Given the description of an element on the screen output the (x, y) to click on. 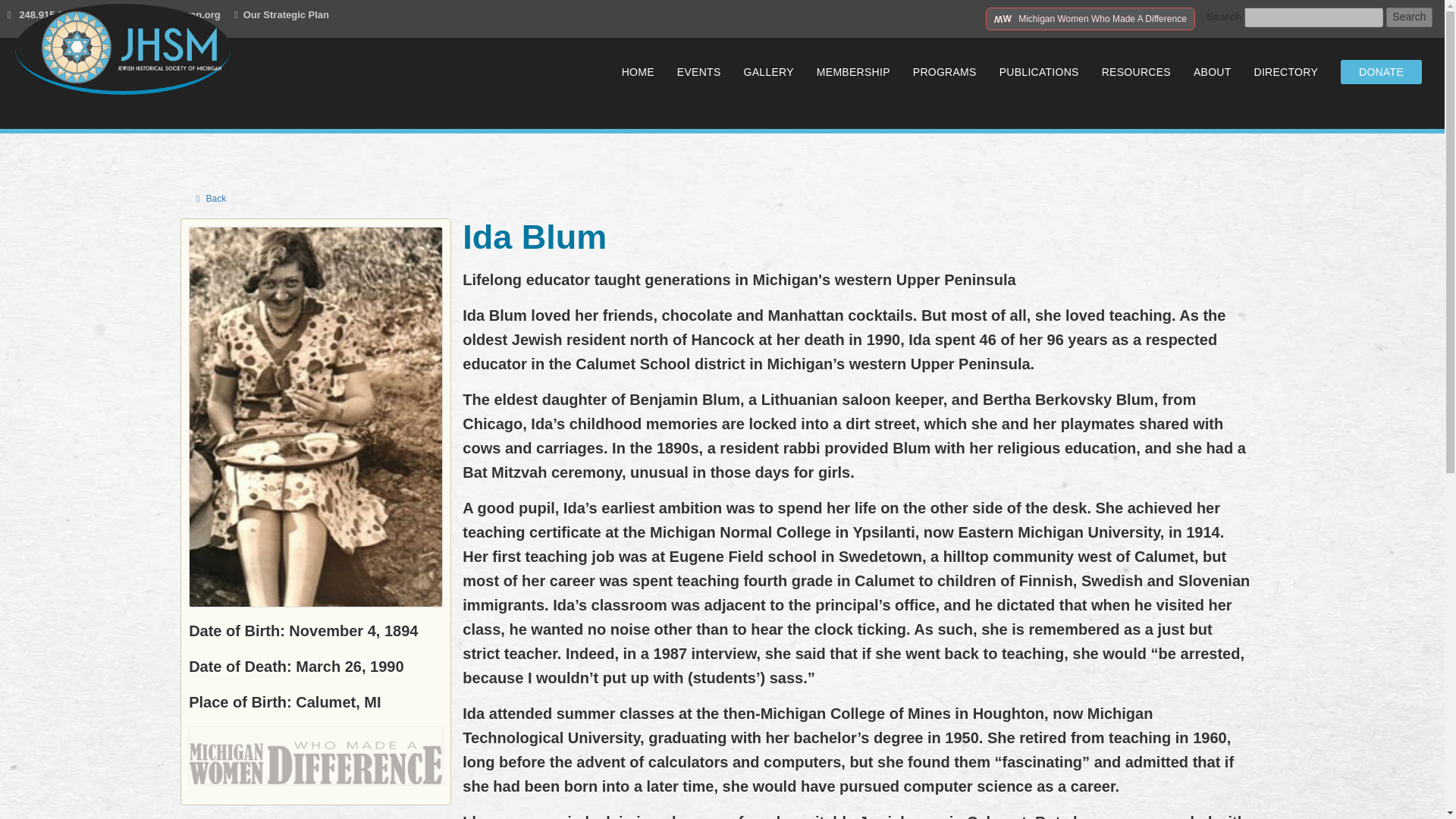
WW Michigan Women Who Made A Difference (1090, 18)
DIRECTORY (1296, 71)
PROGRAMS (955, 71)
EVENTS (710, 71)
DONATE (1381, 71)
GALLERY (780, 71)
Back (211, 198)
ABOUT (1223, 71)
Search (1408, 17)
HOME (649, 71)
